Given the description of an element on the screen output the (x, y) to click on. 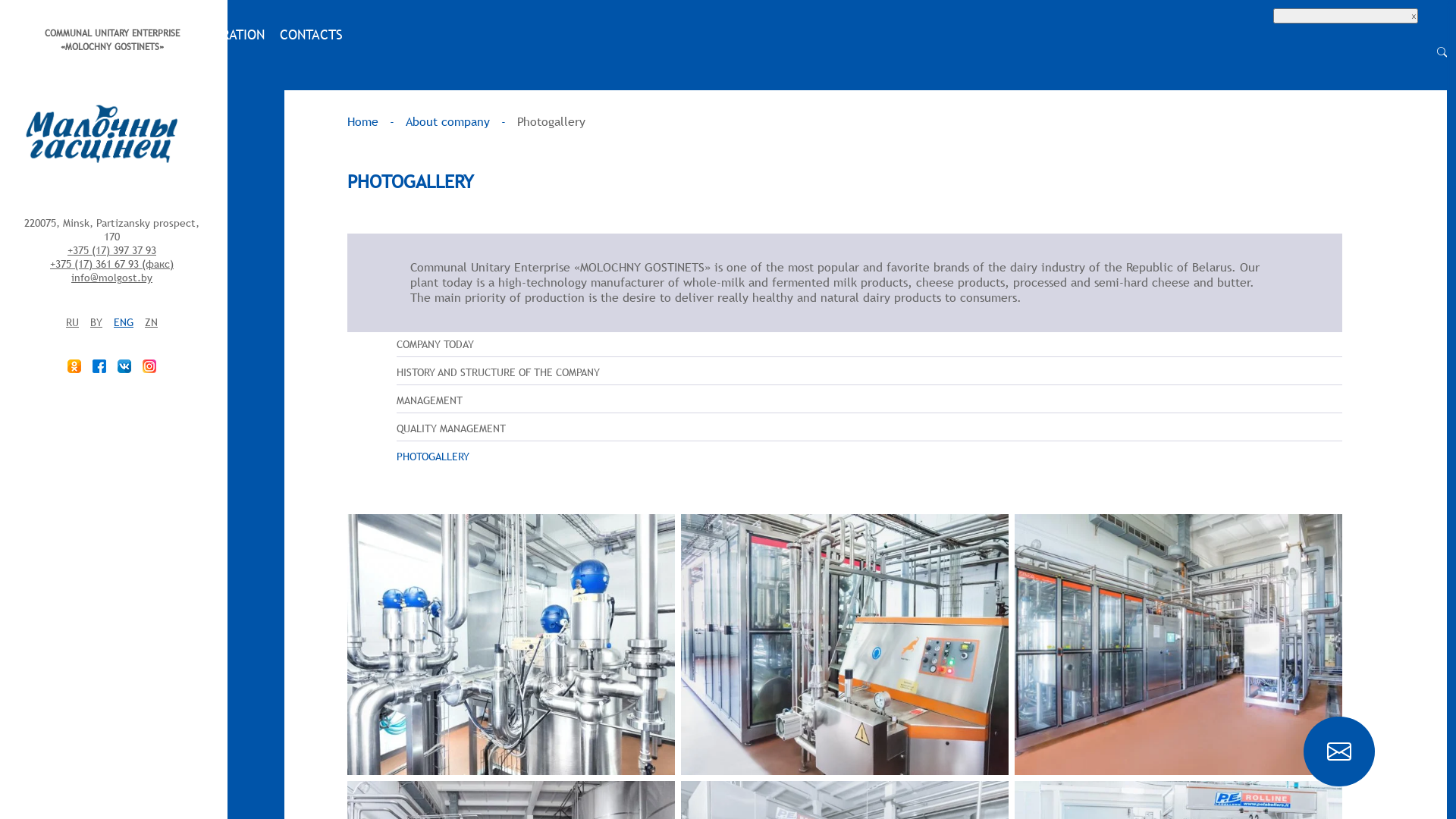
About company Element type: text (447, 121)
CONTACTS Element type: text (310, 34)
info@molgost.by Element type: text (111, 277)
ZN Element type: text (150, 322)
PHOTOGALLERY Element type: text (869, 456)
RU Element type: text (71, 322)
BY Element type: text (96, 322)
MANAGEMENT Element type: text (869, 400)
HISTORY AND STRUCTURE OF THE COMPANY Element type: text (869, 372)
COMPANY TODAY Element type: text (869, 344)
ENG Element type: text (123, 322)
instagram Element type: hover (149, 366)
FOR COOPERATION Element type: text (208, 34)
icon search Element type: hover (1442, 52)
Home Element type: text (362, 121)
QUALITY MANAGEMENT Element type: text (869, 428)
COMPANY Element type: text (28, 34)
Vkontakte Element type: hover (124, 366)
facebook Element type: hover (99, 366)
+375 (17) 397 37 93 Element type: text (111, 250)
PRODUCTS Element type: text (104, 34)
